Given the description of an element on the screen output the (x, y) to click on. 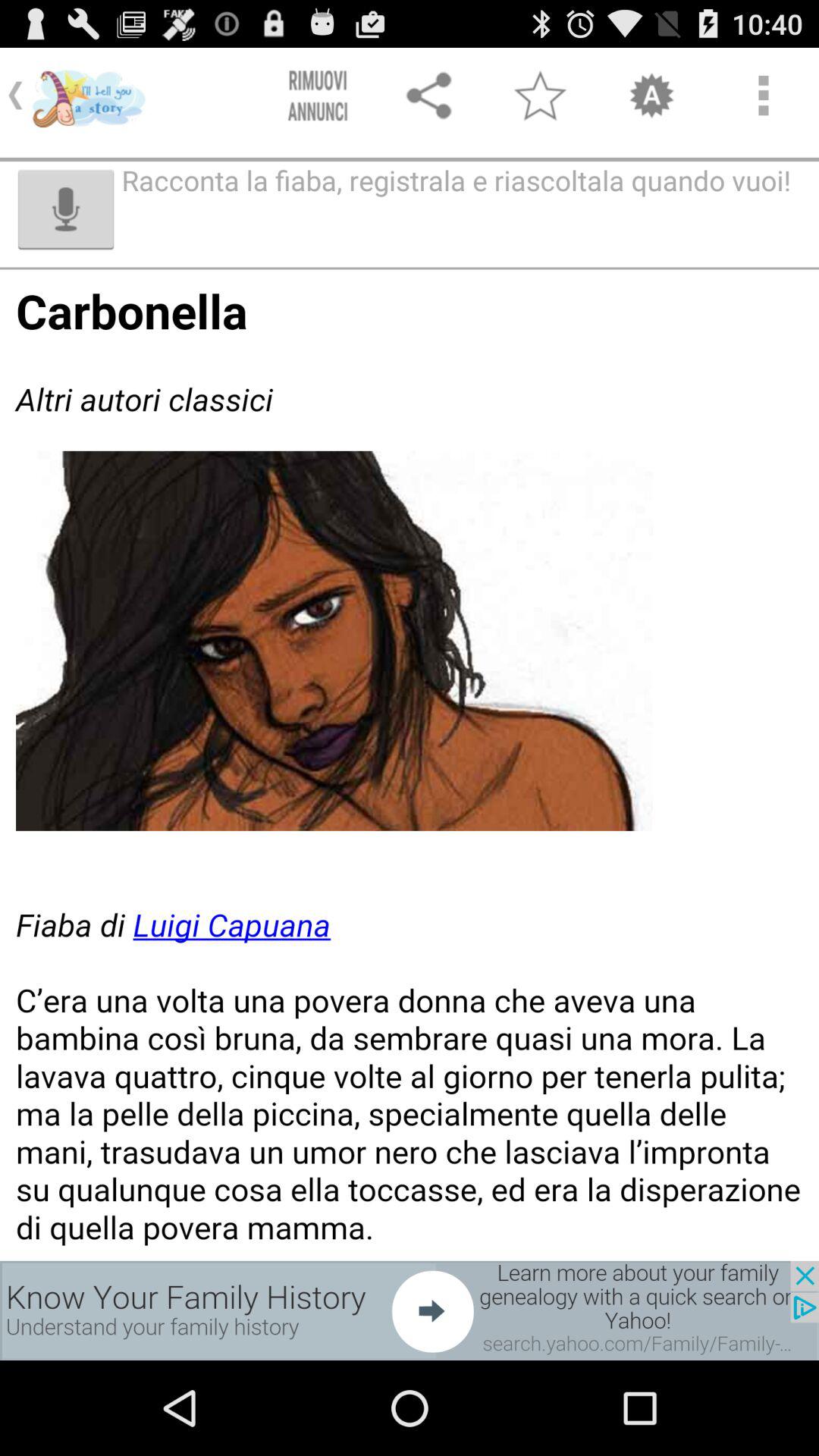
scrollable page (409, 764)
